Given the description of an element on the screen output the (x, y) to click on. 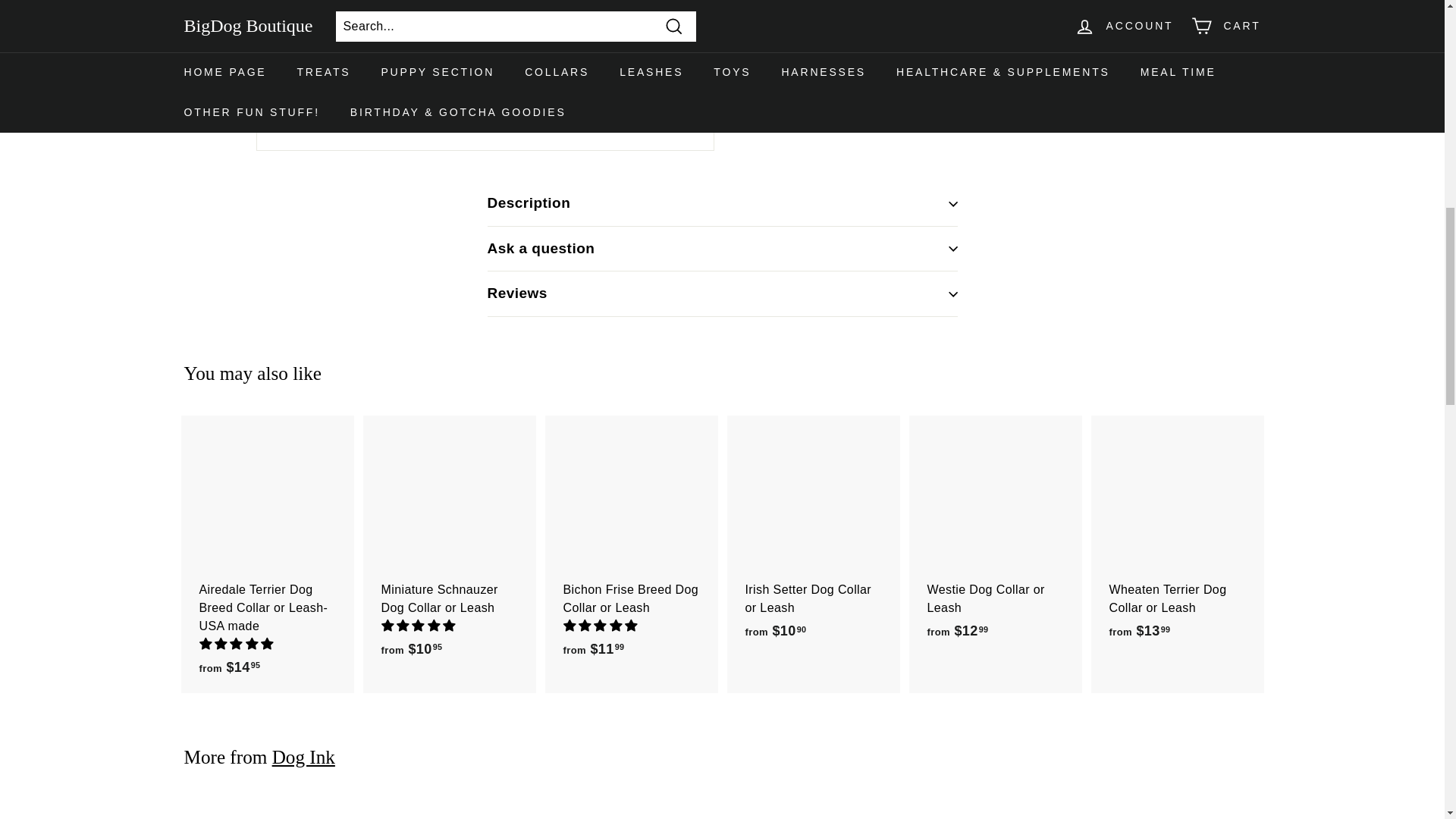
Tweet on Twitter (868, 118)
Dog Ink (303, 756)
Pin on Pinterest (940, 118)
Share on Facebook (794, 118)
